Given the description of an element on the screen output the (x, y) to click on. 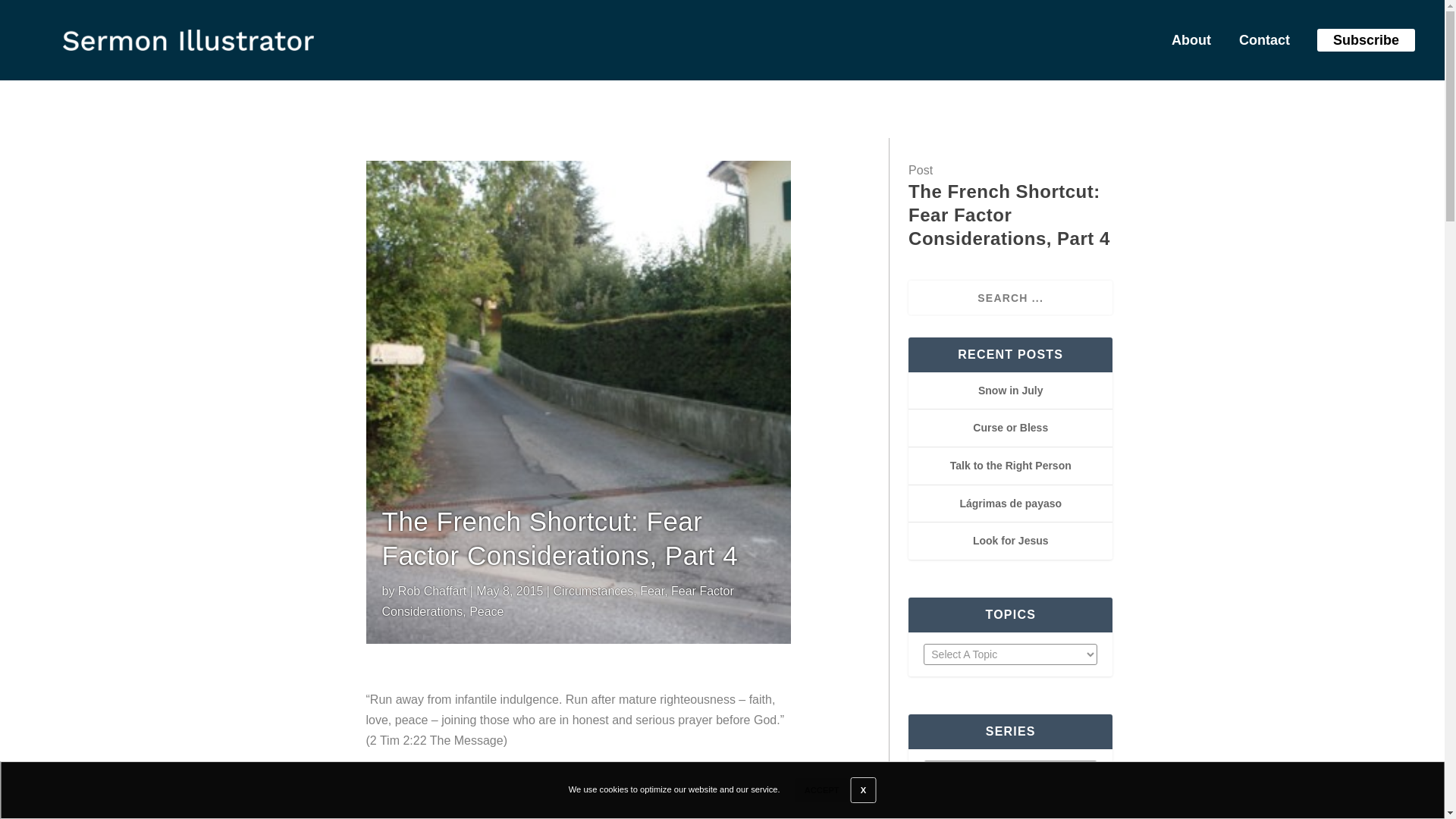
Posts by Rob Chaffart (431, 590)
Talk to the Right Person (1010, 465)
Fear (651, 590)
X (863, 790)
Fear Factor Considerations (557, 601)
Contact (1258, 43)
Subscribe (1365, 39)
Search (29, 13)
New Project (188, 39)
Curse or Bless (1010, 427)
Snow in July (1010, 390)
About (1185, 43)
Circumstances (593, 590)
Look for Jesus (1010, 540)
Peace (485, 611)
